Given the description of an element on the screen output the (x, y) to click on. 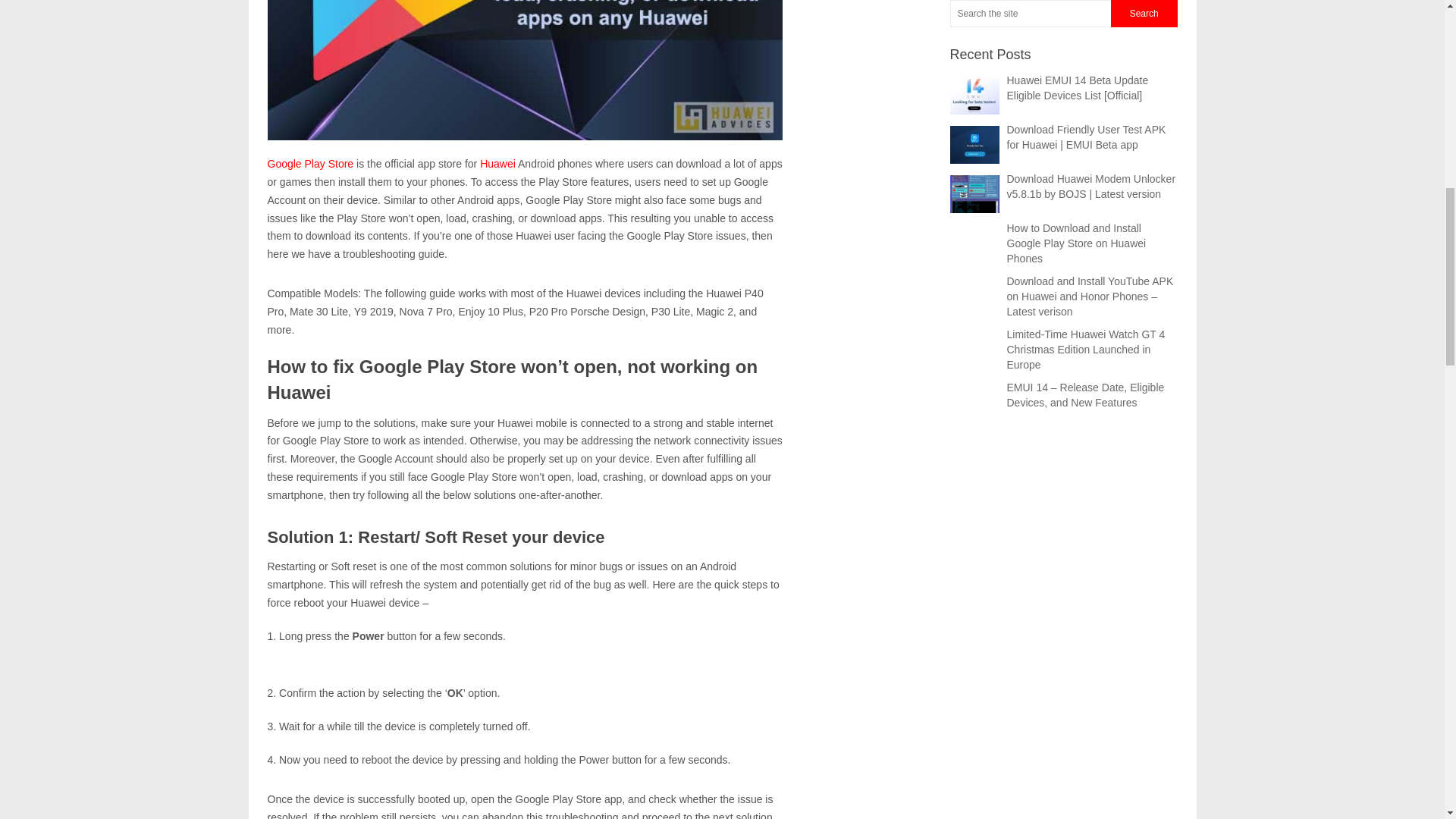
Google Play Store (309, 163)
Search (1143, 13)
Search (1143, 13)
Huawei (497, 163)
